Given the description of an element on the screen output the (x, y) to click on. 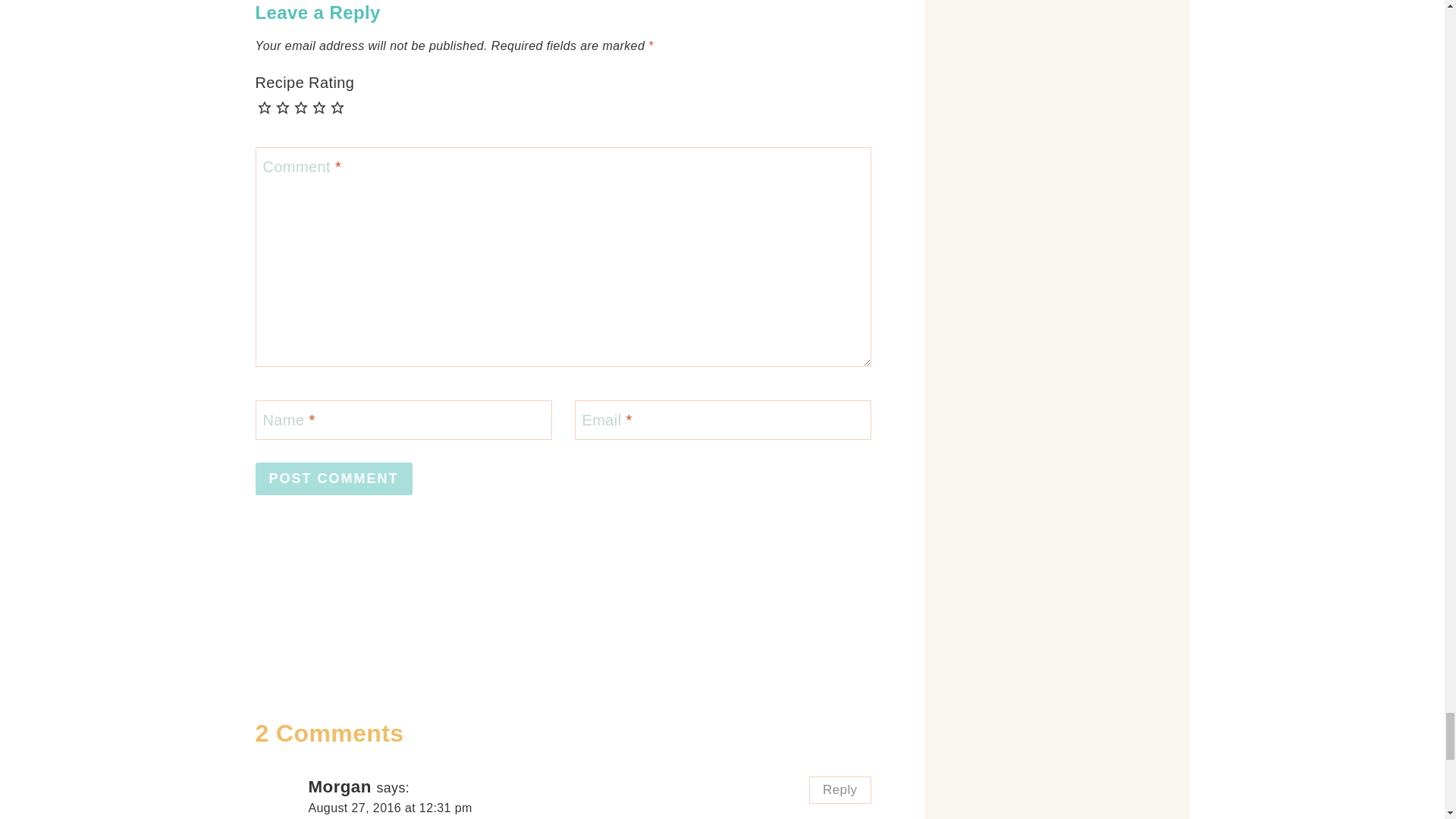
Post Comment (333, 478)
